Given the description of an element on the screen output the (x, y) to click on. 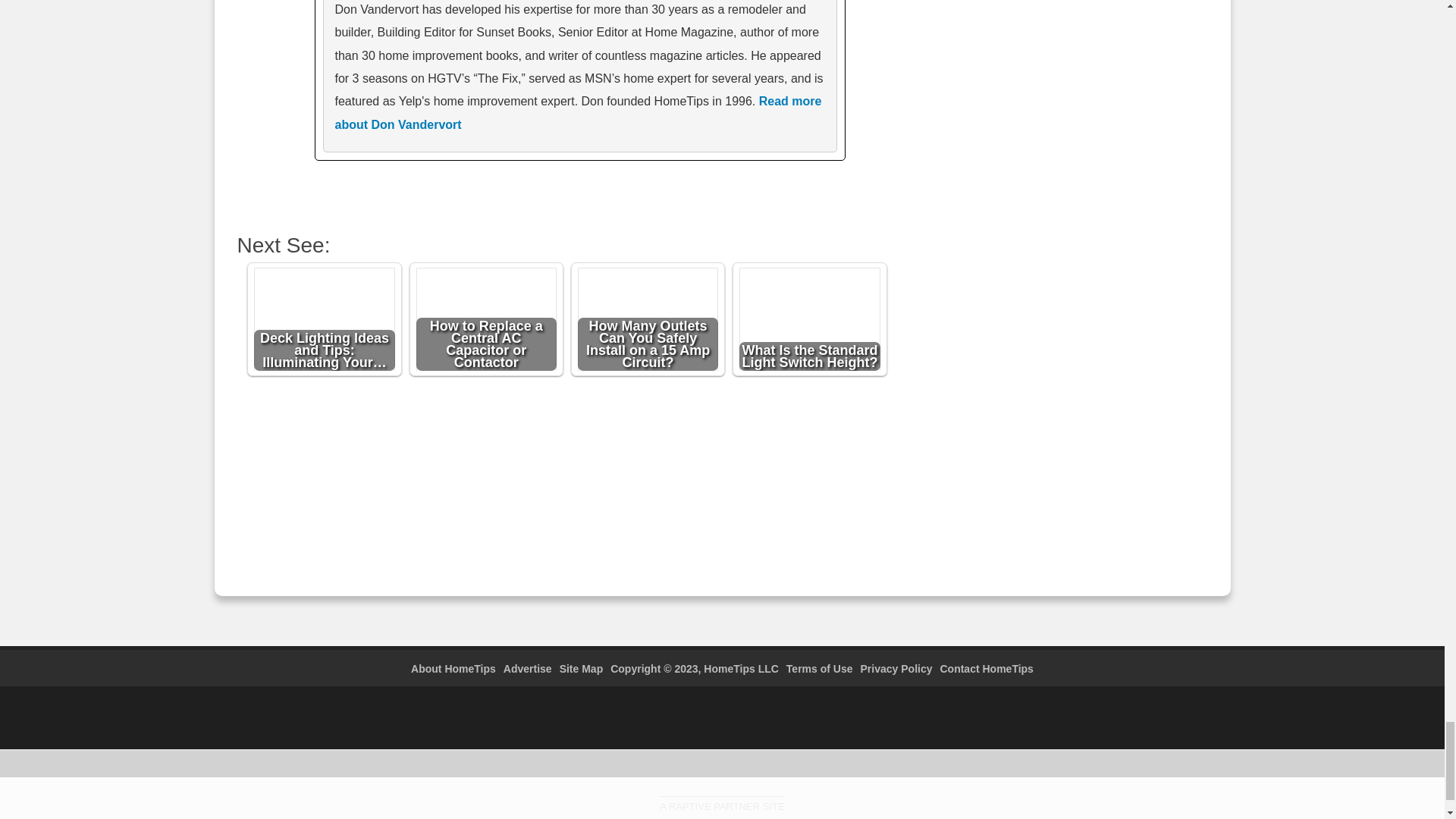
How Many Outlets Can You Safely Install on a 15 Amp Circuit? (648, 321)
What Is the Standard Light Switch Height? (809, 321)
How to Replace a Central AC Capacitor or Contactor (486, 321)
